Given the description of an element on the screen output the (x, y) to click on. 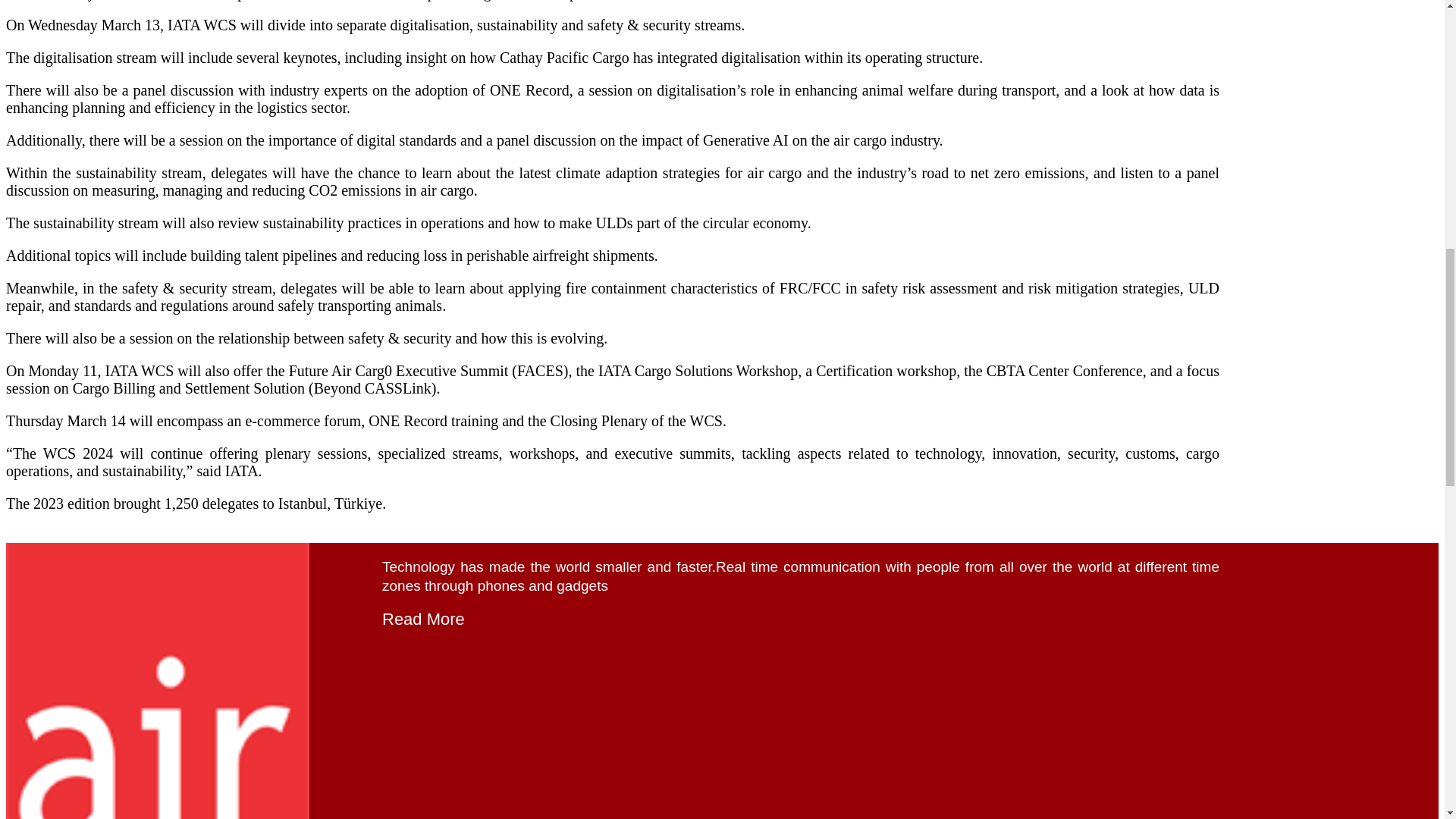
Read More (422, 618)
